Given the description of an element on the screen output the (x, y) to click on. 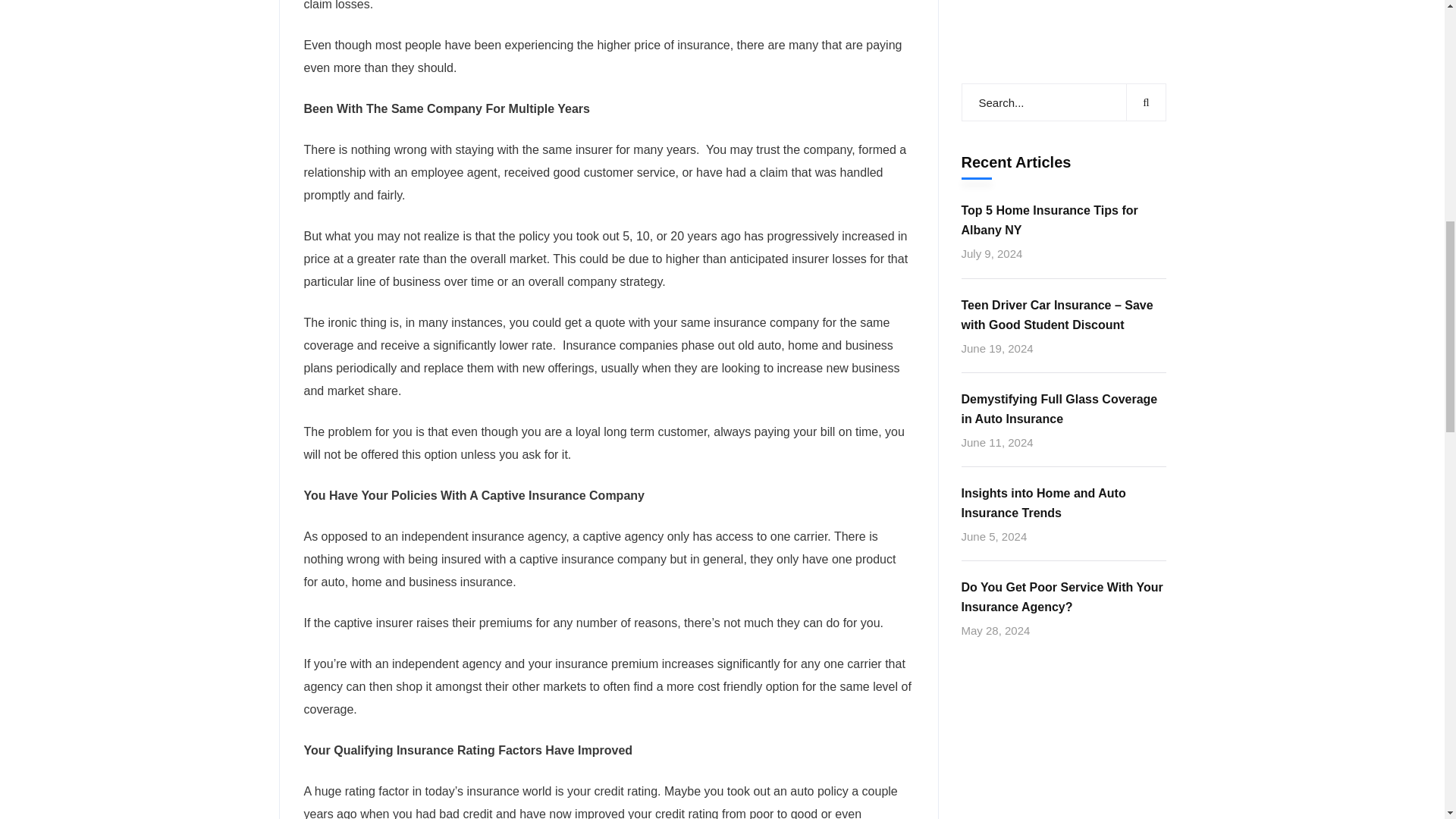
Insights into Home and Auto Insurance Trends (1063, 5)
Do You Get Poor Service With Your Insurance Agency? (1063, 85)
